Given the description of an element on the screen output the (x, y) to click on. 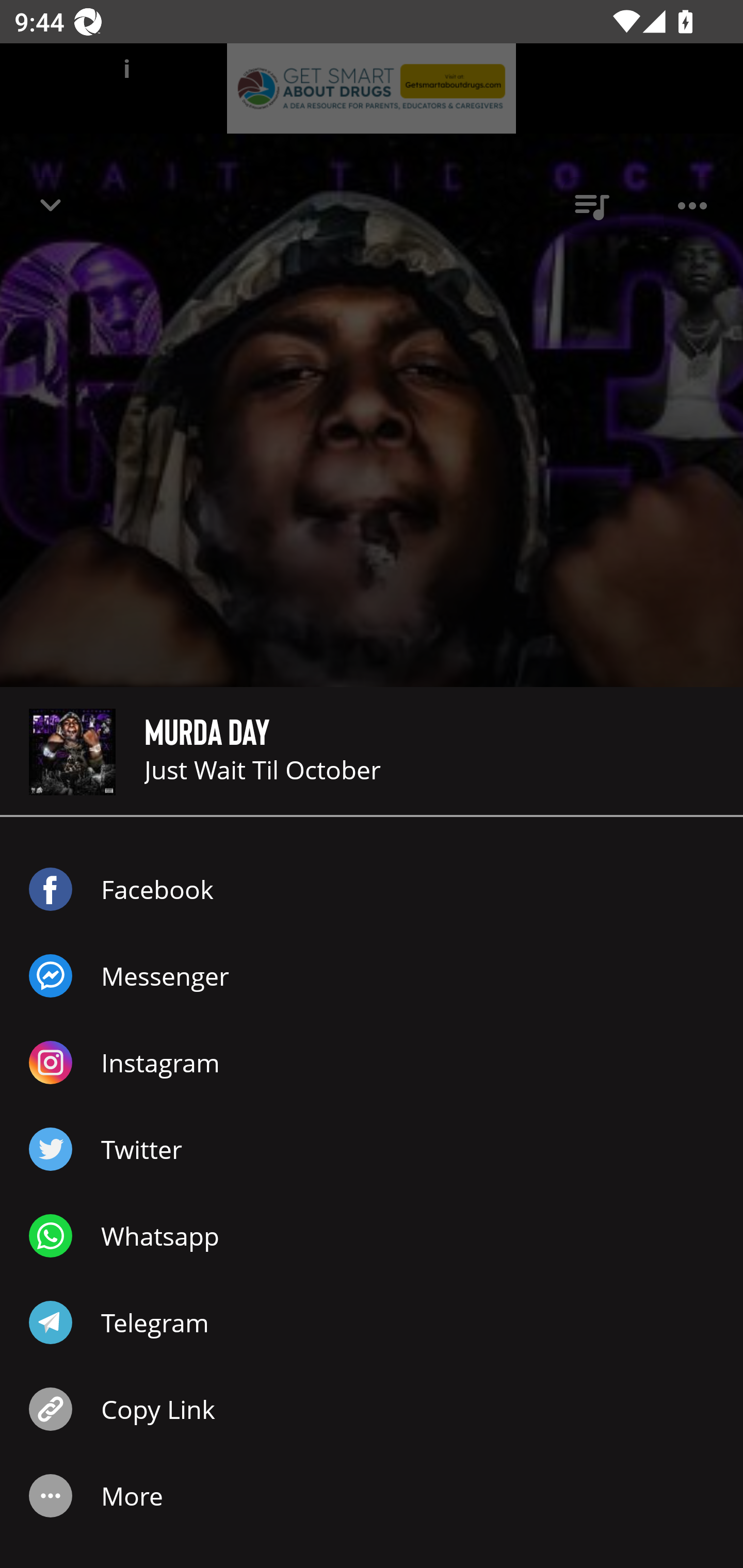
Facebook (371, 888)
Messenger (371, 975)
Instagram (371, 1062)
Twitter (371, 1149)
Whatsapp (371, 1236)
Telegram (371, 1322)
Copy Link (371, 1408)
More (371, 1495)
